Given the description of an element on the screen output the (x, y) to click on. 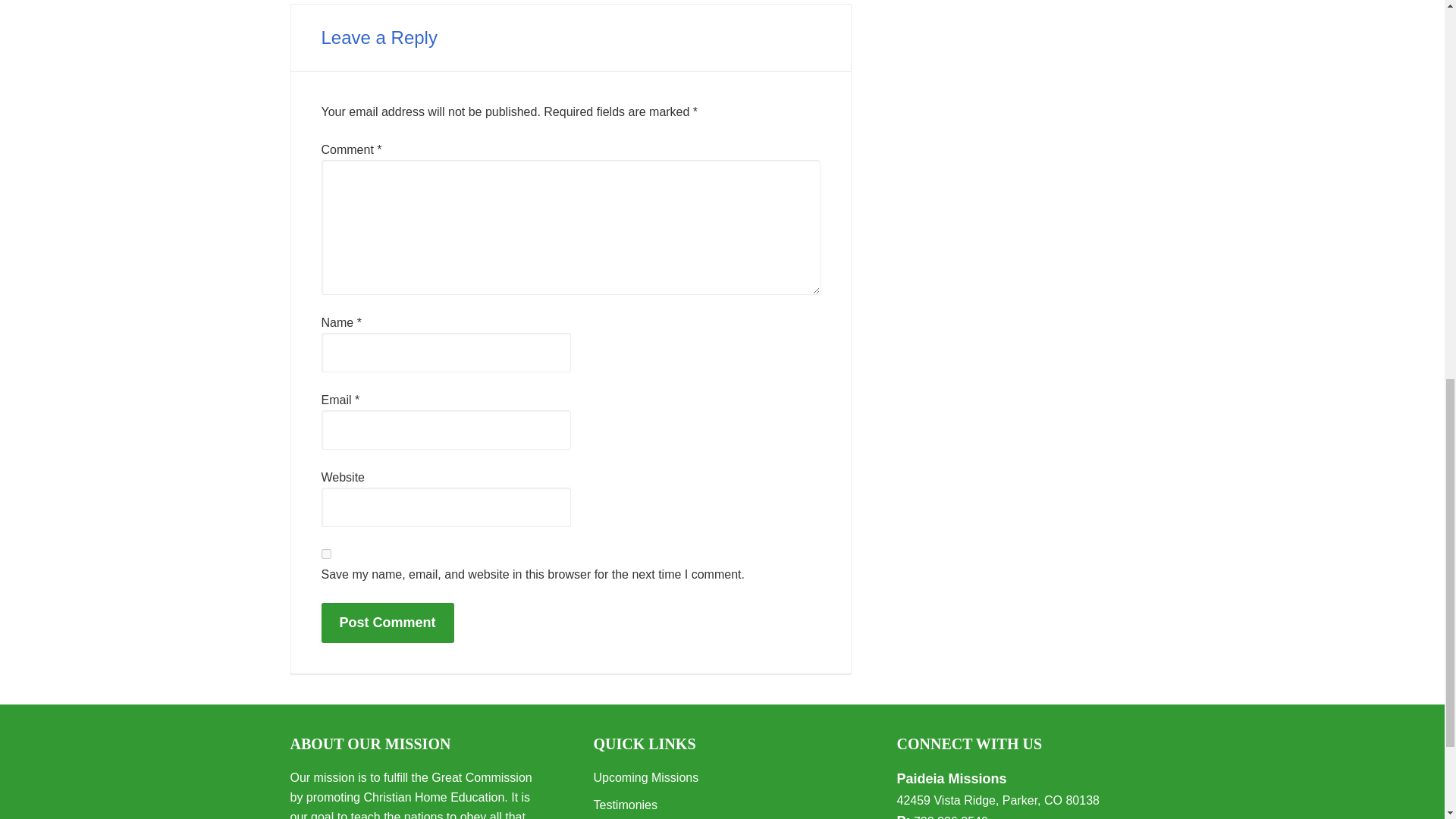
yes (326, 553)
Upcoming Missions (645, 777)
Post Comment (387, 622)
Post Comment (387, 622)
Testimonies (624, 804)
